Given the description of an element on the screen output the (x, y) to click on. 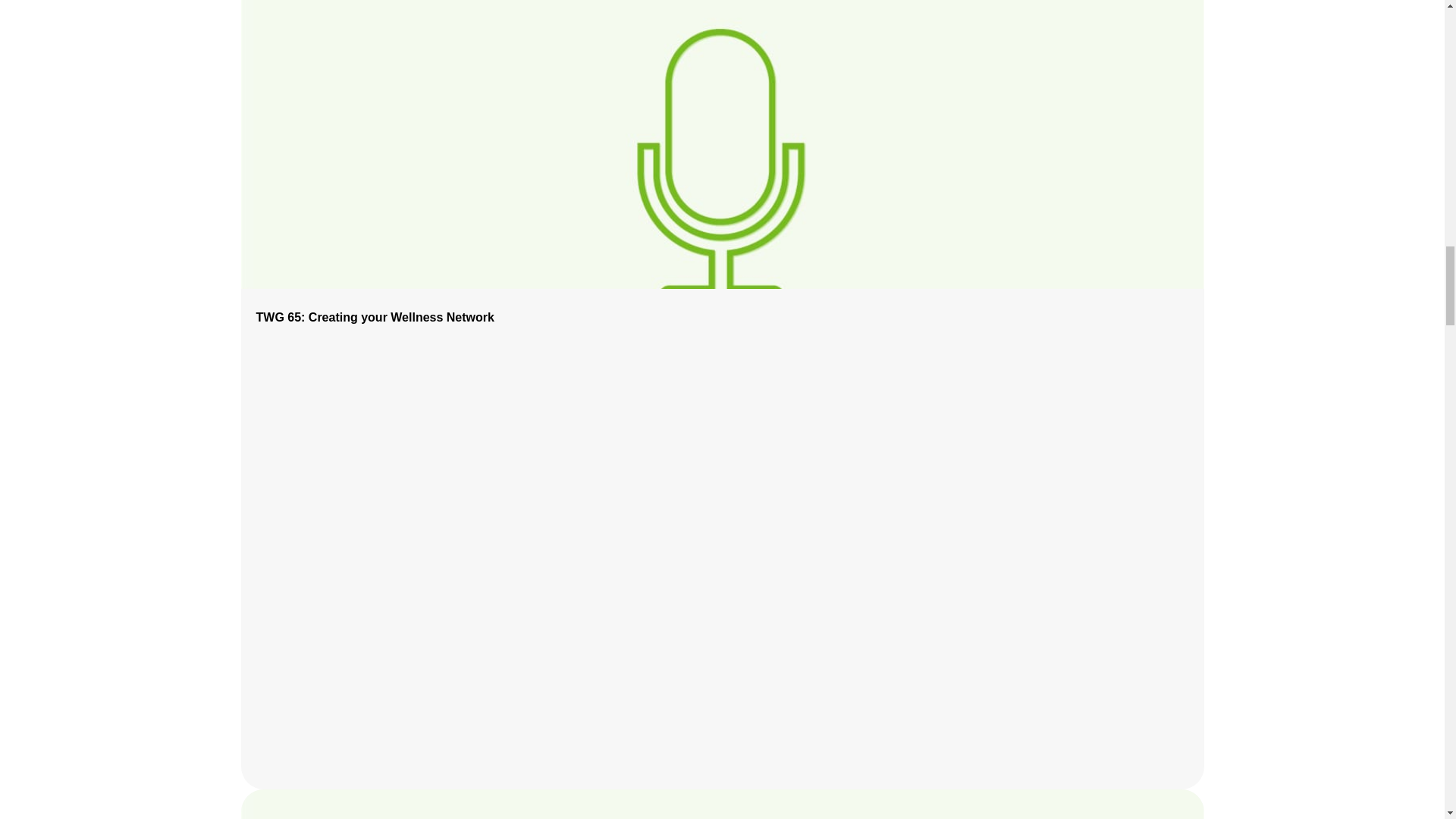
TWG 65: Creating your Wellness Network (375, 317)
